Given the description of an element on the screen output the (x, y) to click on. 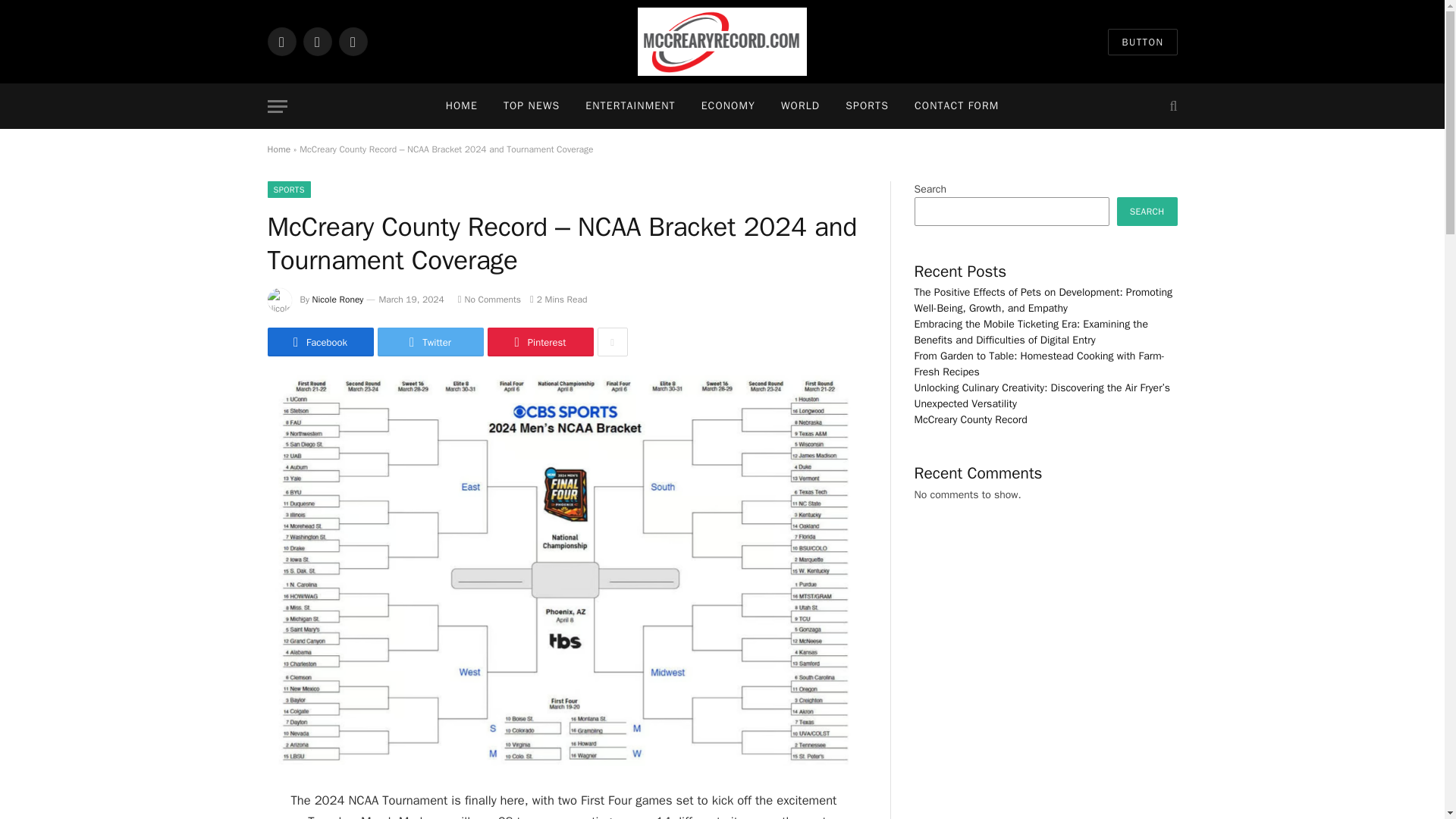
Search (1171, 106)
No Comments (489, 299)
Pinterest (539, 341)
Instagram (351, 41)
Nicole Roney (338, 299)
SPORTS (866, 105)
ENTERTAINMENT (629, 105)
CONTACT FORM (956, 105)
WORLD (800, 105)
Share on Facebook (319, 341)
Facebook (319, 341)
BUTTON (1142, 41)
McCreary County Record (721, 41)
Show More Social Sharing (611, 341)
ECONOMY (728, 105)
